Given the description of an element on the screen output the (x, y) to click on. 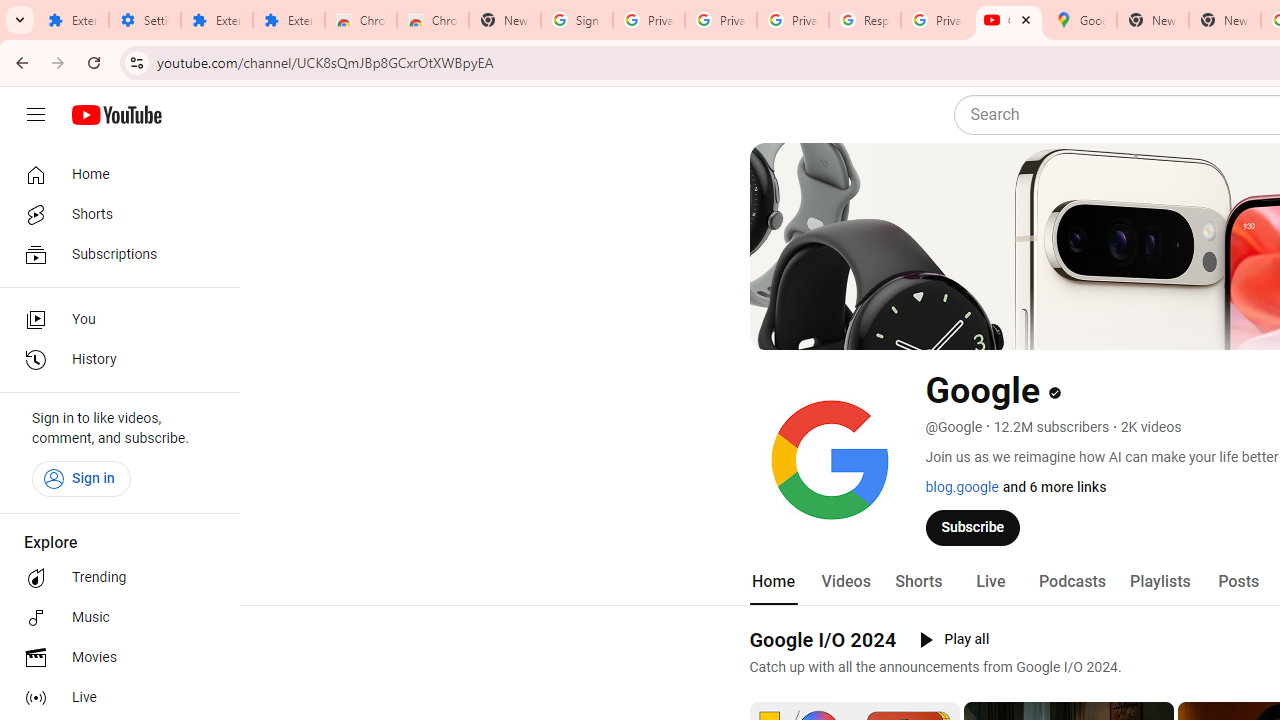
Videos (845, 581)
Back (19, 62)
Chrome Web Store (360, 20)
YouTube Home (116, 115)
